Given the description of an element on the screen output the (x, y) to click on. 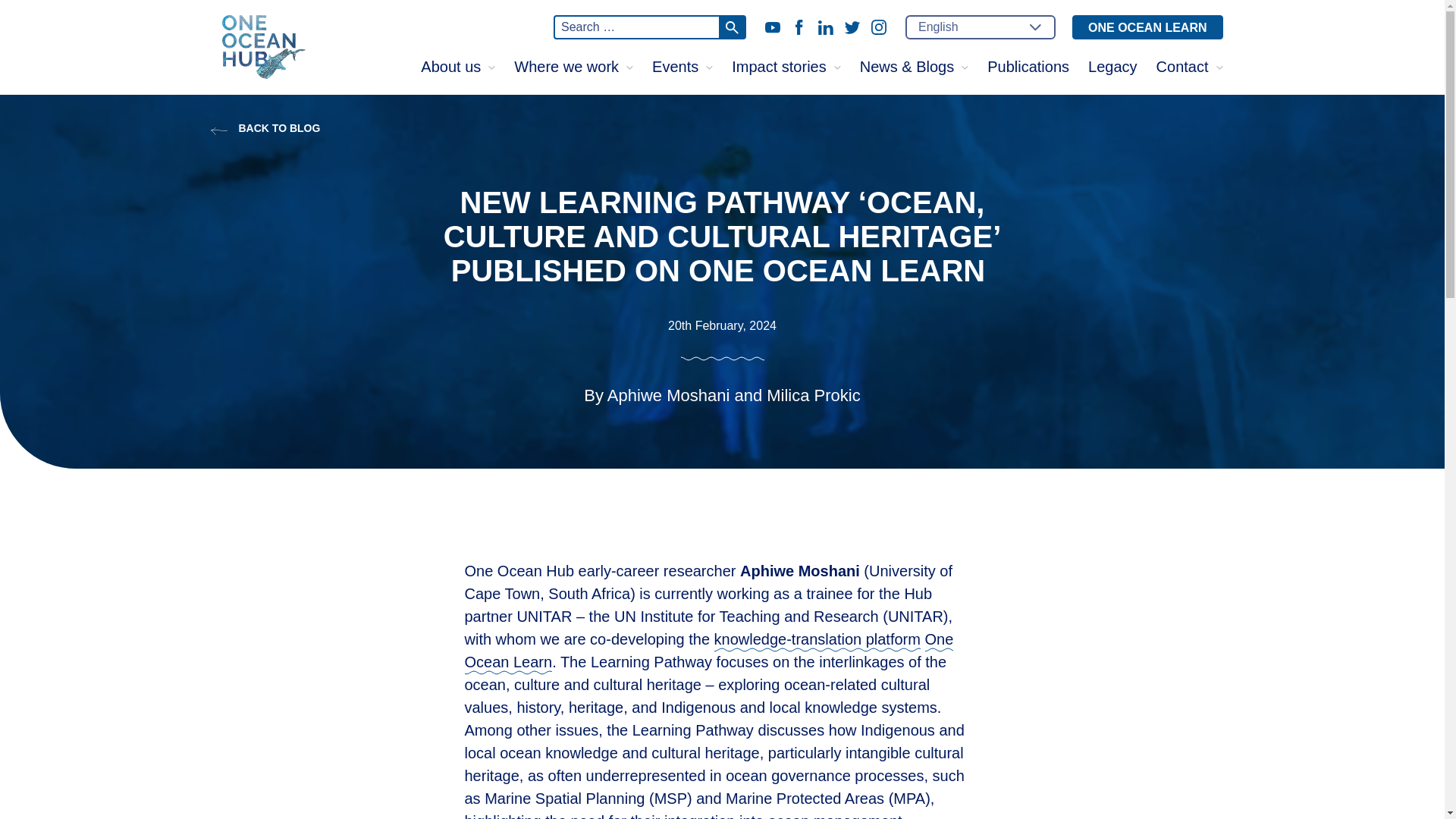
Search (731, 26)
Show submenu for About us (491, 67)
Show submenu for Events (708, 67)
Show submenu for Impact stories (836, 67)
Impact stories (778, 67)
Show submenu for Where we work (630, 67)
Where we work (565, 67)
Search (731, 26)
About us (450, 67)
Events (675, 67)
Publications (1027, 67)
